Given the description of an element on the screen output the (x, y) to click on. 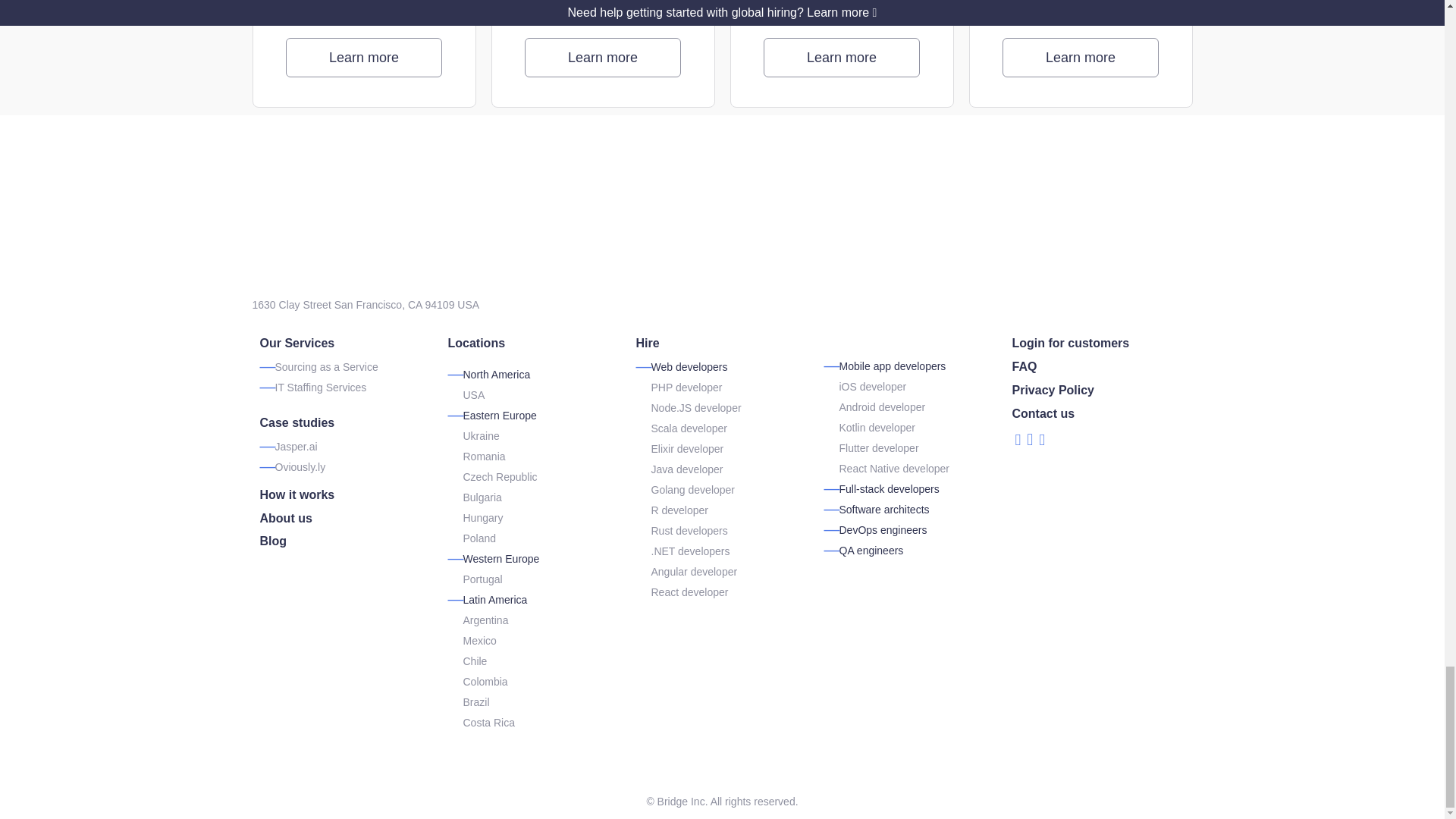
Learn more (363, 56)
Learn more (602, 56)
Learn more (1080, 56)
Learn more (841, 56)
